Given the description of an element on the screen output the (x, y) to click on. 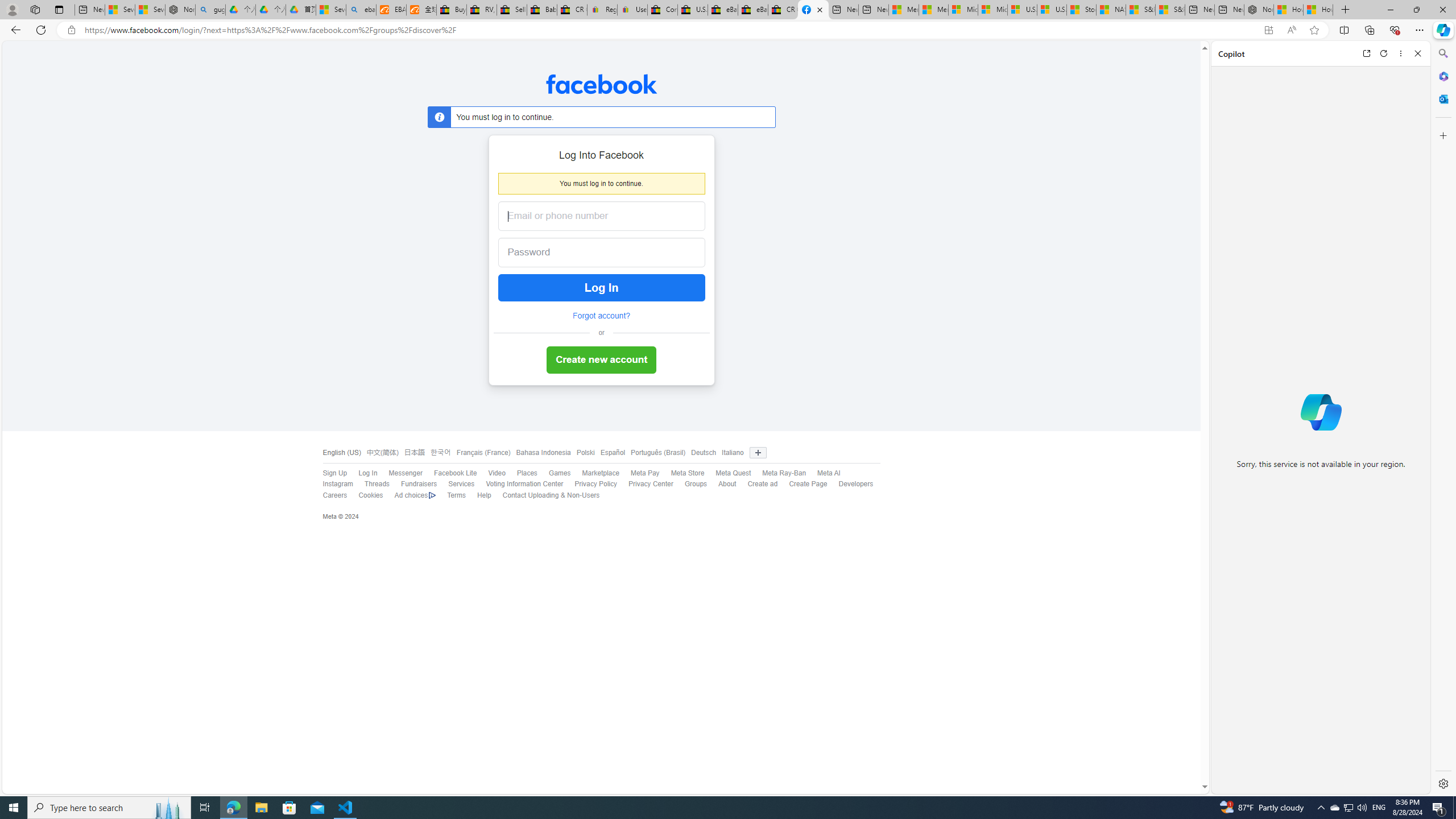
Fundraisers (418, 483)
Log In (367, 473)
Bahasa Indonesia (542, 452)
Register: Create a personal eBay account (601, 9)
Meta Pay (644, 473)
Help (478, 495)
U.S. State Privacy Disclosures - eBay Inc. (691, 9)
